Given the description of an element on the screen output the (x, y) to click on. 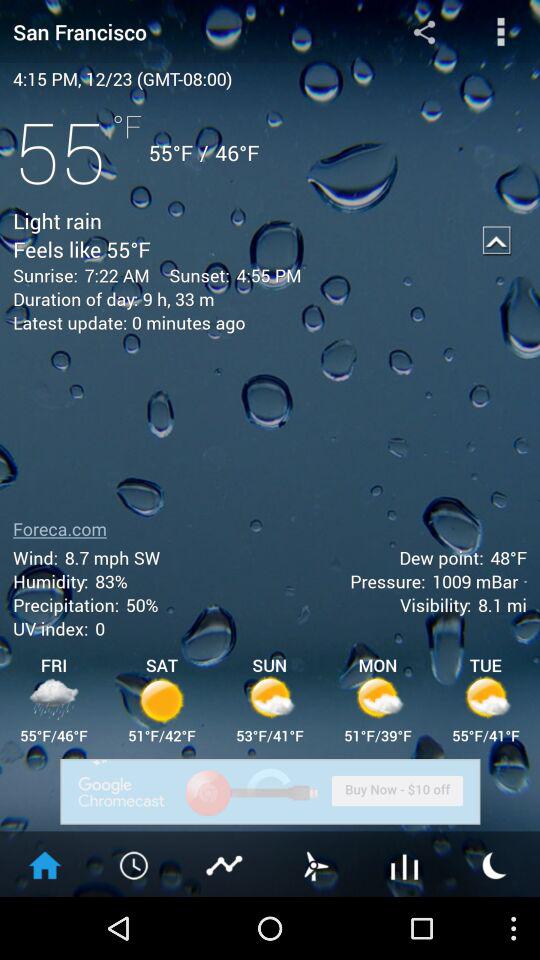
open hourly forecast (135, 864)
